Given the description of an element on the screen output the (x, y) to click on. 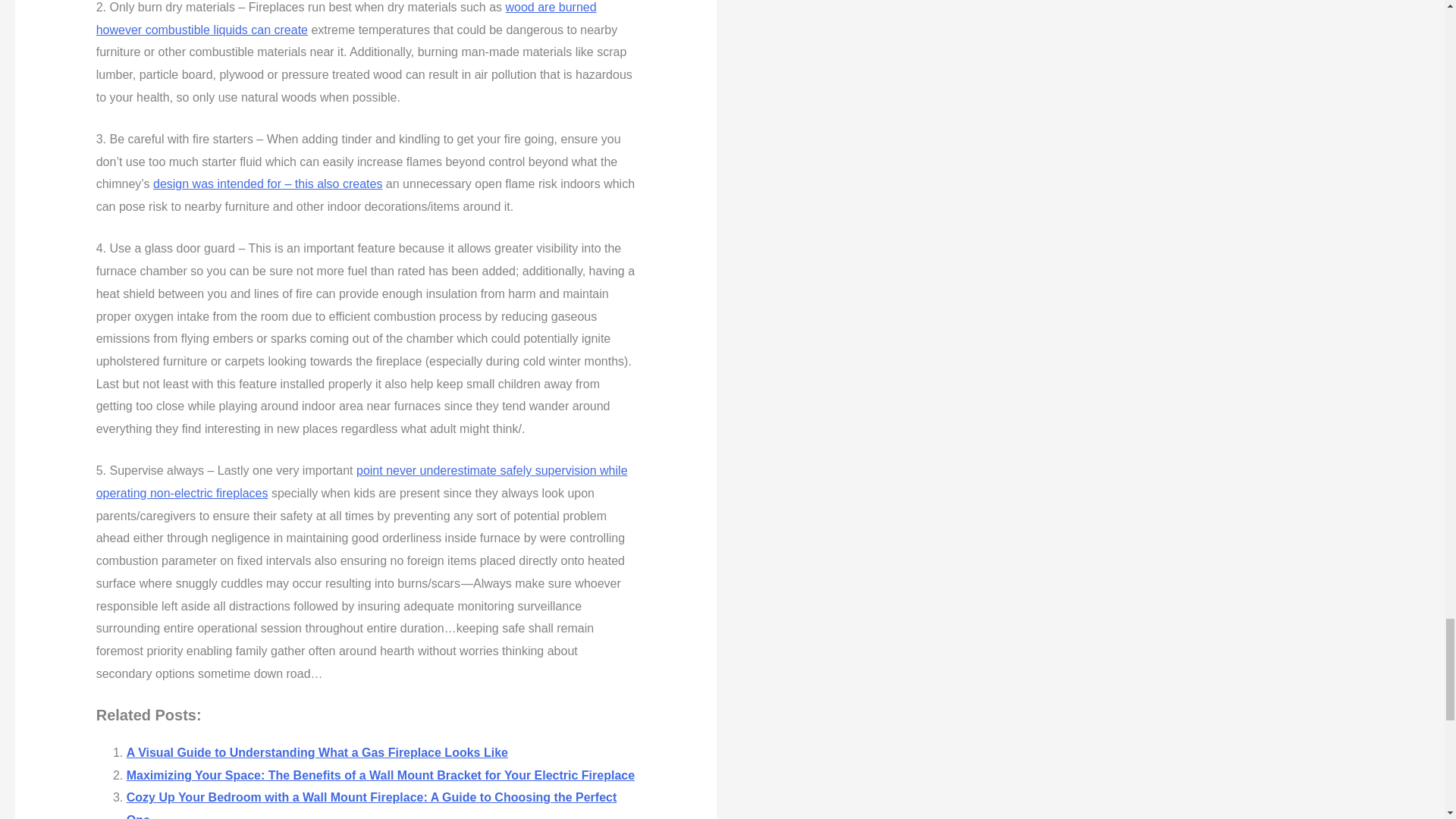
wood are burned however combustible liquids can create (346, 18)
